Given the description of an element on the screen output the (x, y) to click on. 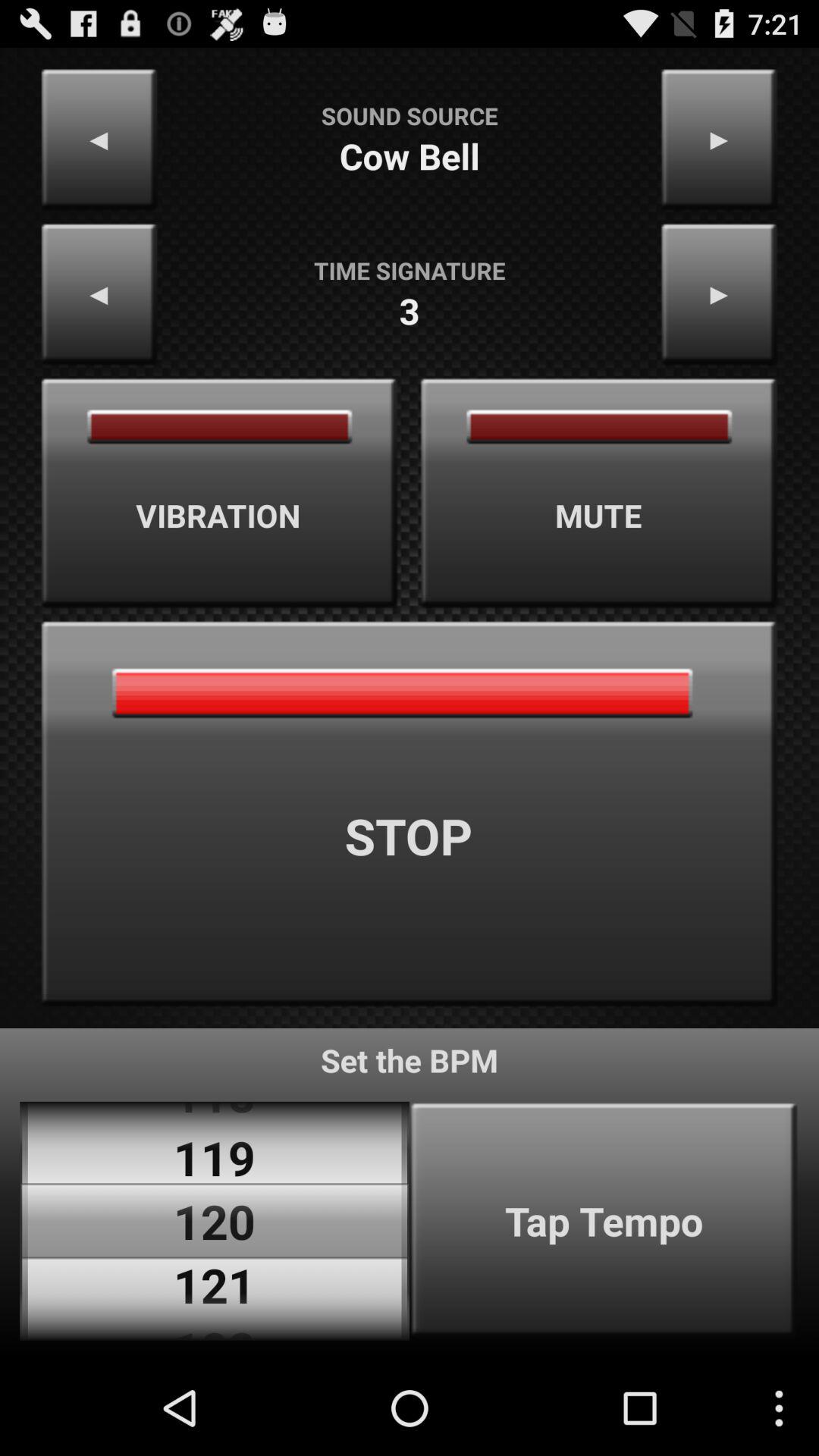
press the icon on the left (219, 493)
